Given the description of an element on the screen output the (x, y) to click on. 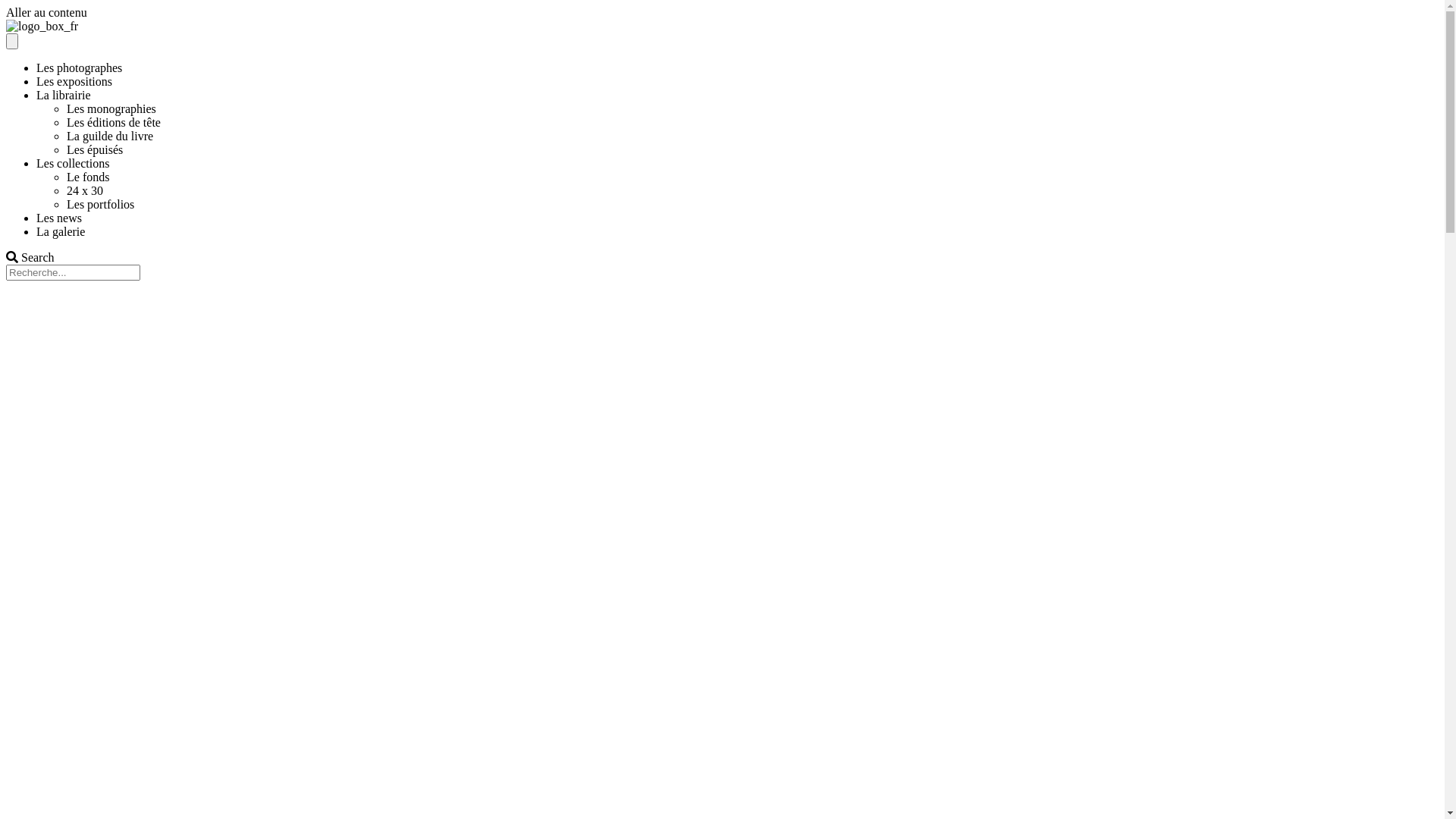
La guilde du livre Element type: text (109, 135)
Les portfolios Element type: text (100, 203)
Le fonds Element type: text (87, 176)
logo_box_fr Element type: hover (42, 26)
Les news Element type: text (58, 217)
Aller au contenu Element type: text (46, 12)
La librairie Element type: text (63, 94)
Les collections Element type: text (72, 162)
Search Element type: hover (73, 272)
Les monographies Element type: text (111, 108)
Les expositions Element type: text (74, 81)
24 x 30 Element type: text (84, 190)
La galerie Element type: text (60, 231)
Les photographes Element type: text (79, 67)
